Given the description of an element on the screen output the (x, y) to click on. 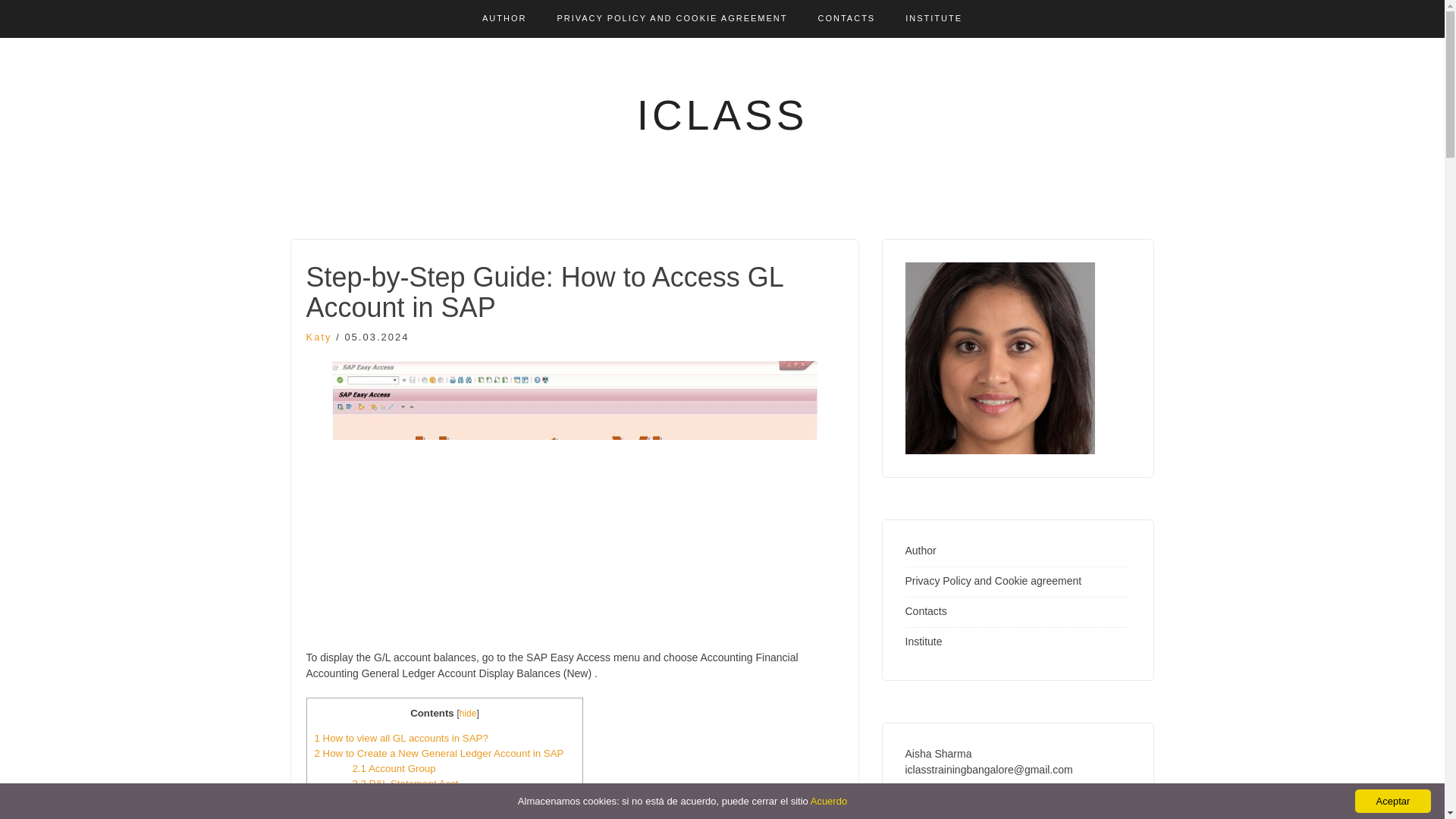
PRIVACY POLICY AND COOKIE AGREEMENT (671, 18)
Katy (318, 337)
Institute (923, 641)
Privacy Policy and Cookie agreement (993, 580)
2.1 Account Group (393, 767)
2.3 How to View General Ledger Accounts in SAP (463, 798)
AUTHOR (503, 18)
2 How to Create a New General Ledger Account in SAP (438, 753)
Acuerdo (828, 800)
Contacts (926, 611)
